Given the description of an element on the screen output the (x, y) to click on. 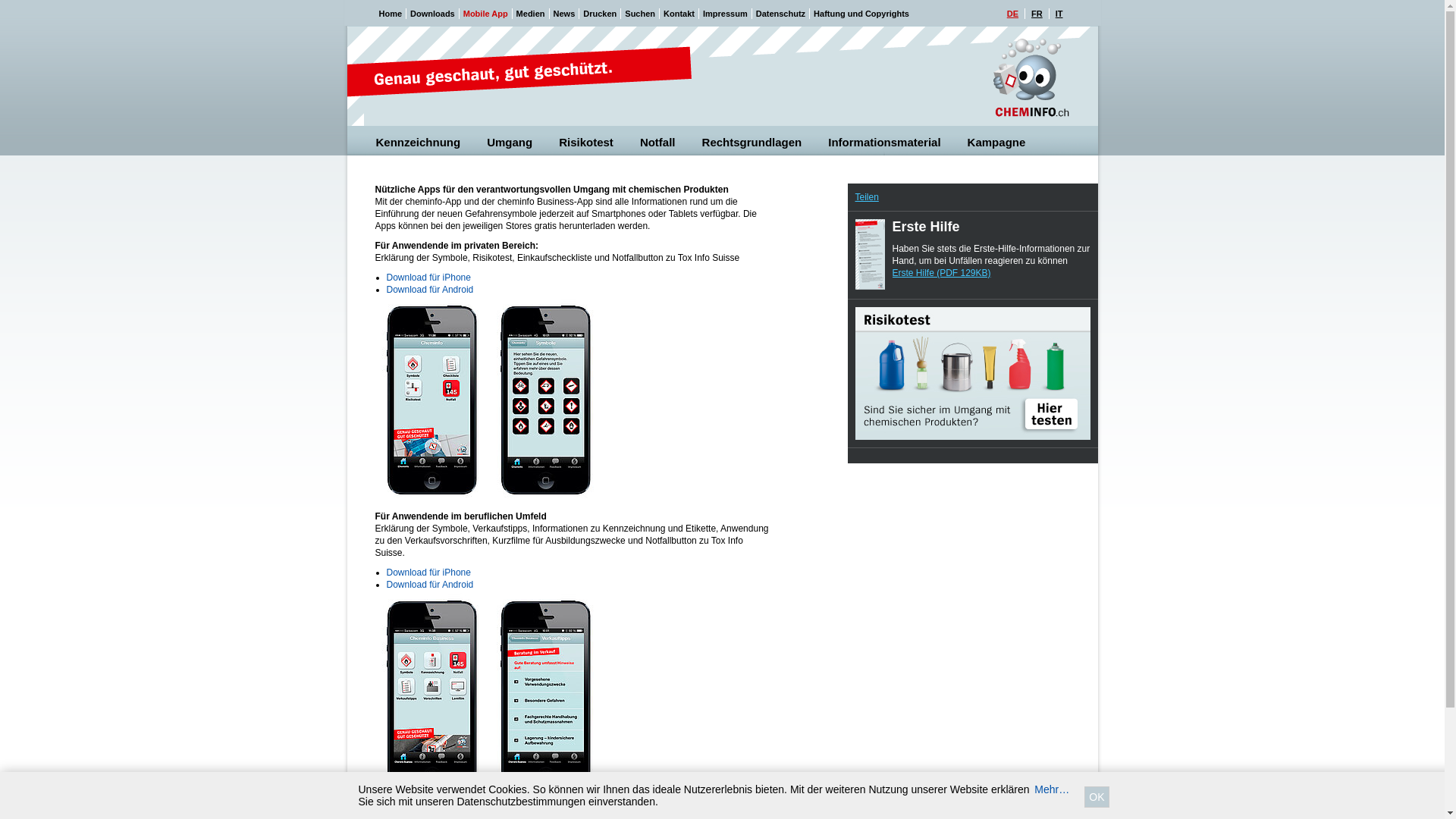
Teilen Element type: text (866, 196)
Downloads Element type: text (432, 13)
FR Element type: text (1036, 13)
Erste Hilfe (PDF 129KB) Element type: text (940, 272)
Mobile App Element type: text (485, 13)
Impressum Element type: text (724, 13)
Informationsmaterial Element type: text (885, 141)
OK Element type: text (1096, 796)
Haftung und Copyrights Element type: text (861, 13)
News Element type: text (564, 13)
Rechtsgrundlagen Element type: text (753, 141)
Umgang Element type: text (510, 141)
Drucken Element type: text (599, 13)
Medien Element type: text (530, 13)
Datenschutz Element type: text (780, 13)
DE Element type: text (1012, 13)
Kampagne Element type: text (997, 141)
Notfall Element type: text (658, 141)
Home Element type: text (390, 13)
Cheminfo Element type: text (1031, 77)
Risikotest Element type: text (587, 141)
Suchen Element type: text (639, 13)
Kontakt Element type: text (678, 13)
Kennzeichnung Element type: text (419, 141)
IT Element type: text (1059, 13)
